Given the description of an element on the screen output the (x, y) to click on. 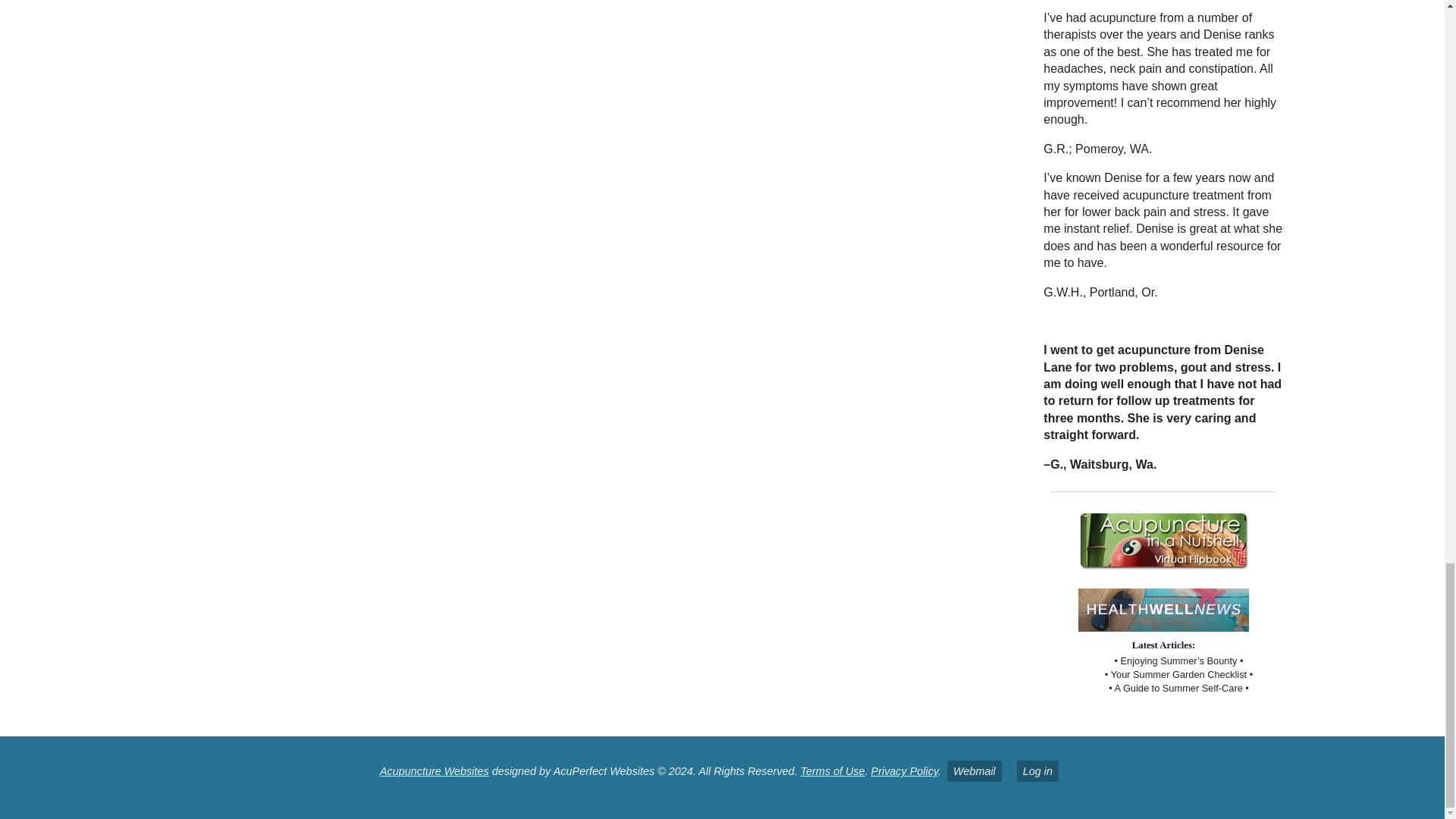
Log in (1037, 771)
Acupuncture Websites (434, 770)
Acupuncture Websites (434, 770)
Privacy Policy (904, 770)
Webmail (974, 771)
Terms of Use (832, 770)
